Given the description of an element on the screen output the (x, y) to click on. 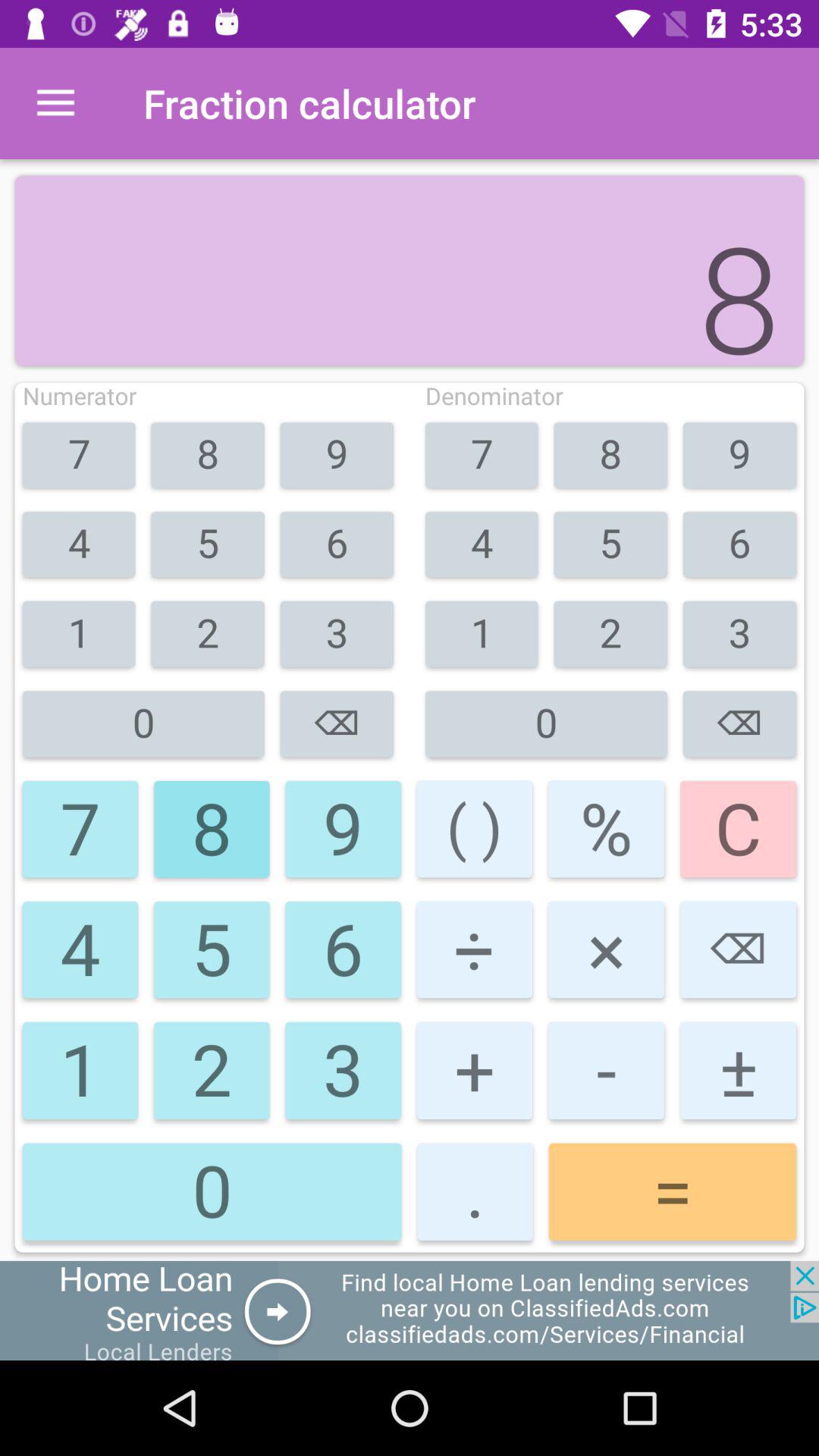
link to advert (409, 1310)
